Given the description of an element on the screen output the (x, y) to click on. 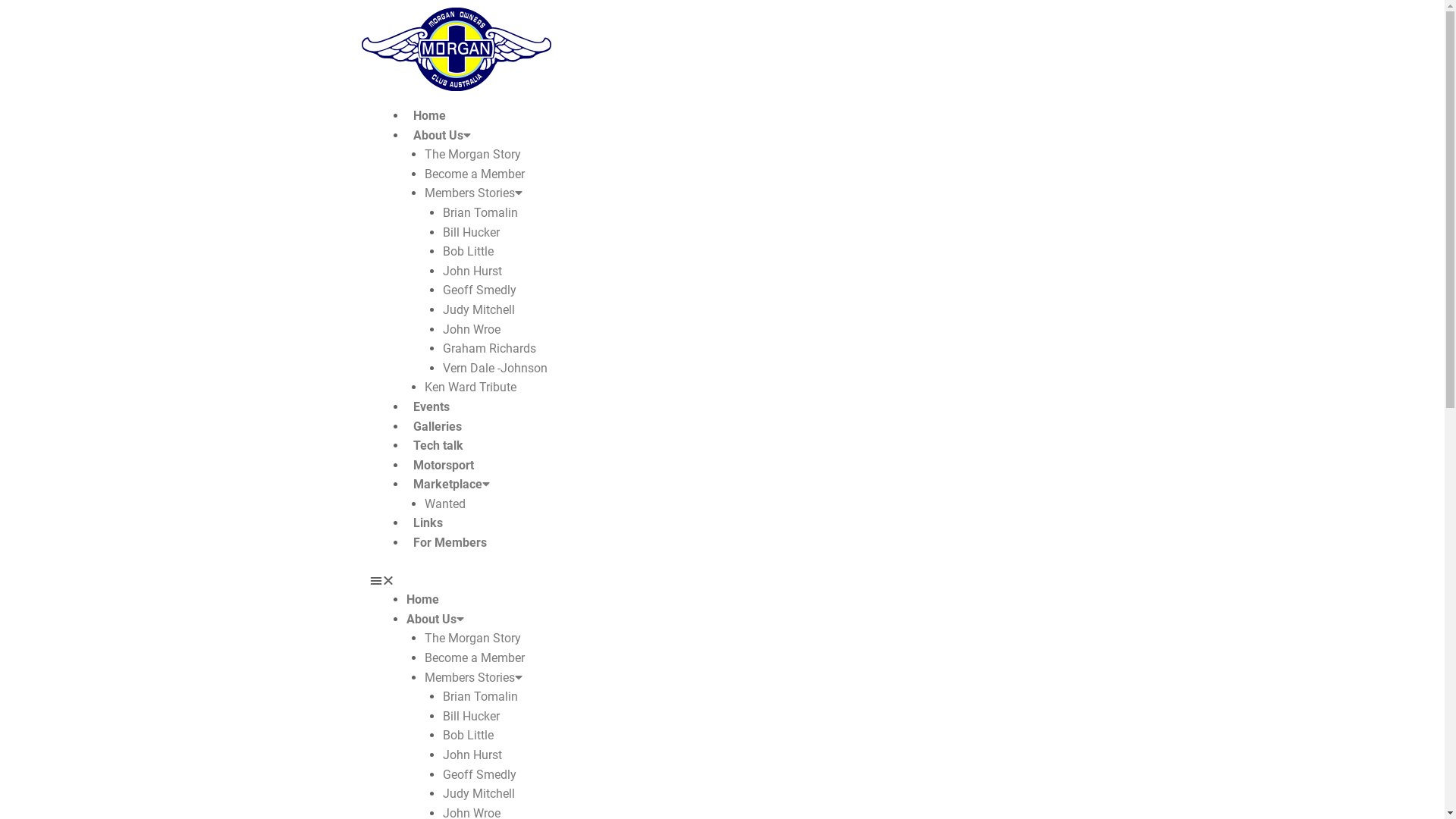
Vern Dale -Johnson Element type: text (494, 367)
John Hurst Element type: text (472, 270)
About Us Element type: text (435, 618)
Links Element type: text (427, 522)
John Hurst Element type: text (472, 754)
Wanted Element type: text (444, 503)
Galleries Element type: text (437, 425)
Geoff Smedly Element type: text (479, 774)
Home Element type: text (429, 115)
Bill Hucker Element type: text (470, 232)
Ken Ward Tribute Element type: text (470, 386)
Judy Mitchell Element type: text (478, 793)
Tech talk Element type: text (438, 445)
Bill Hucker Element type: text (470, 716)
Brian Tomalin Element type: text (479, 212)
About Us Element type: text (441, 135)
For Members Element type: text (449, 542)
Geoff Smedly Element type: text (479, 289)
Home Element type: text (422, 599)
Bob Little Element type: text (467, 735)
The Morgan Story Element type: text (472, 154)
Motorsport Element type: text (443, 465)
Bob Little Element type: text (467, 251)
Judy Mitchell Element type: text (478, 309)
Members Stories Element type: text (473, 677)
Become a Member Element type: text (474, 657)
The Morgan Story Element type: text (472, 637)
Brian Tomalin Element type: text (479, 696)
MOCA Logo Colour Element type: hover (455, 49)
Marketplace Element type: text (451, 483)
Graham Richards Element type: text (489, 348)
Become a Member Element type: text (474, 173)
John Wroe Element type: text (471, 329)
Members Stories Element type: text (473, 192)
Events Element type: text (431, 406)
